Given the description of an element on the screen output the (x, y) to click on. 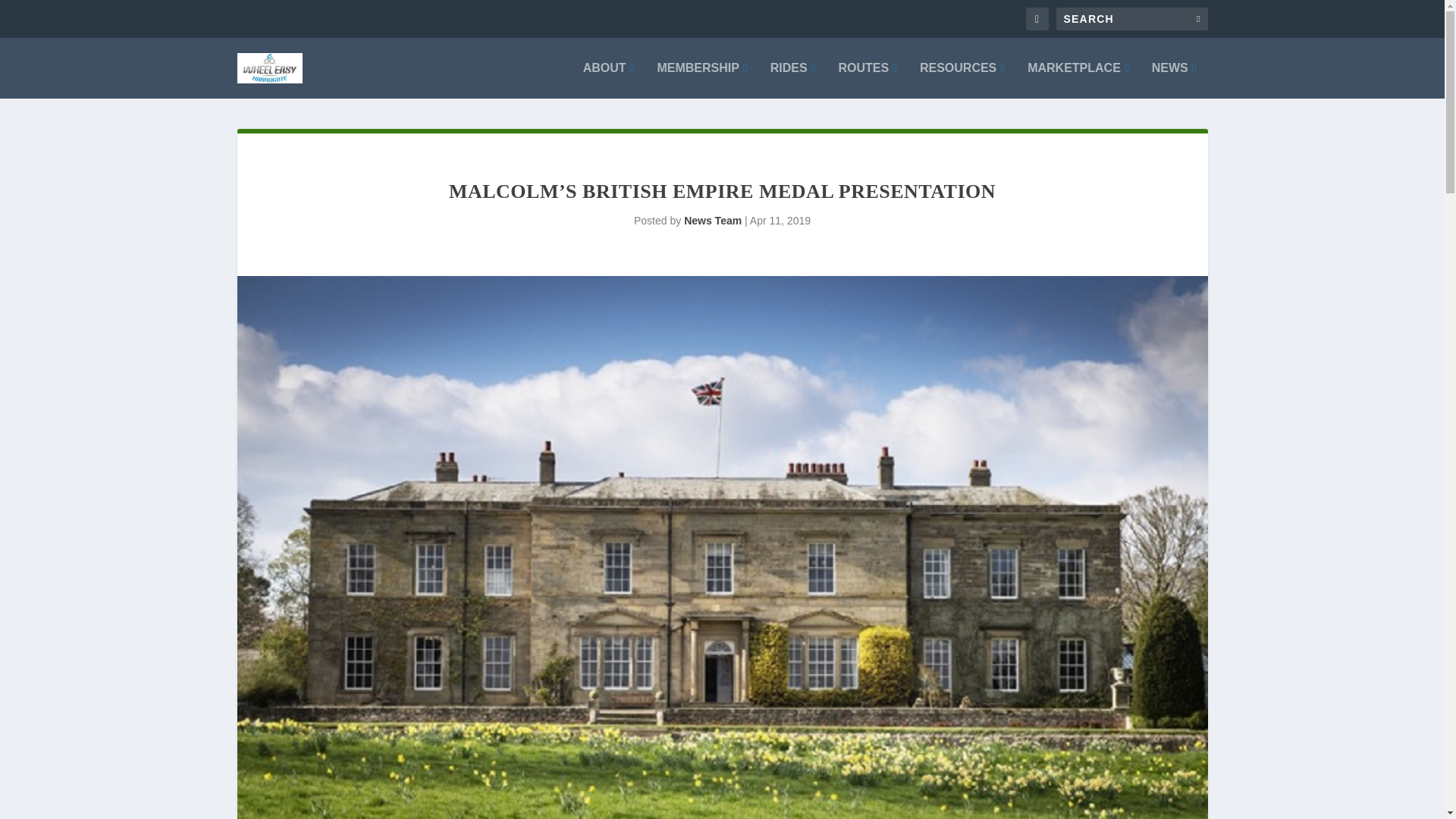
RIDES (792, 80)
RESOURCES (962, 80)
ROUTES (867, 80)
Search for: (1131, 18)
ABOUT (608, 80)
MEMBERSHIP (701, 80)
Posts by News Team (712, 220)
